Given the description of an element on the screen output the (x, y) to click on. 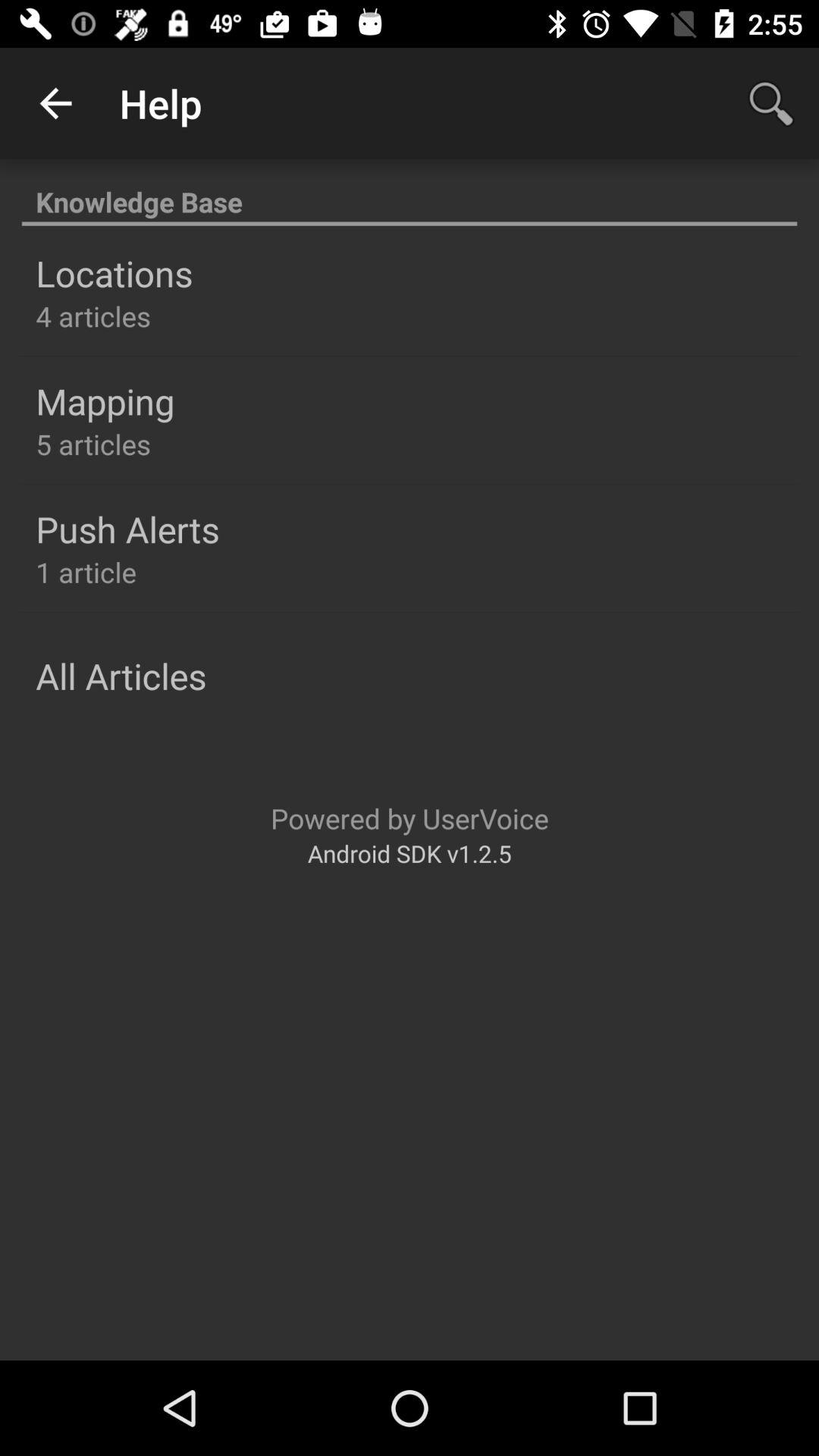
choose the item to the right of help (771, 103)
